Given the description of an element on the screen output the (x, y) to click on. 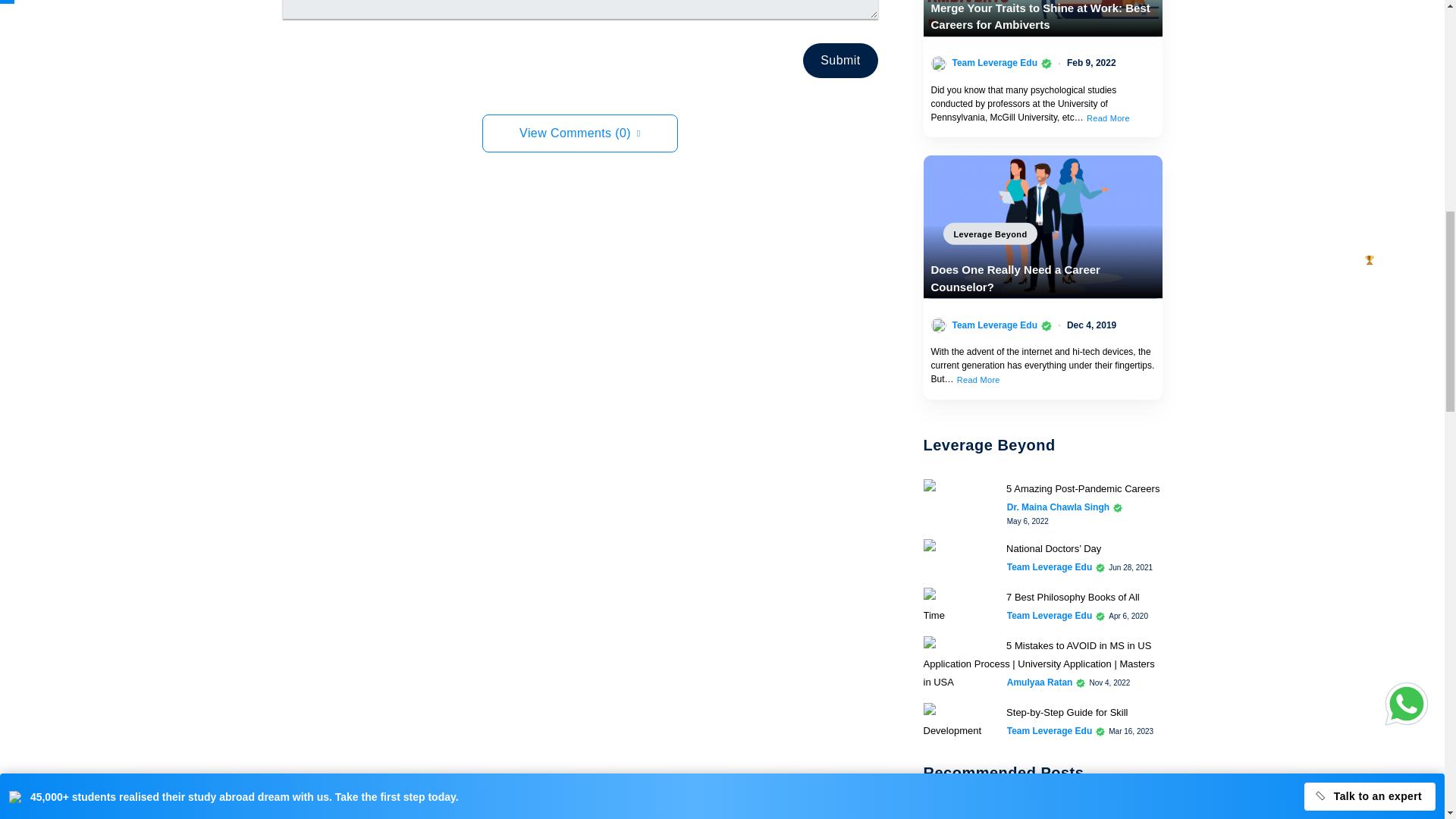
View all posts by Dr. Maina Chawla Singh (1058, 507)
View all posts by Team Leverage Edu (1050, 615)
View all posts by Team Leverage Edu (995, 62)
View all posts by Team Leverage Edu (1050, 567)
View all posts by Amulyaa Ratan (1040, 682)
View all posts by Team Leverage Edu (1050, 730)
View all posts by Team Leverage Edu (995, 325)
